Given the description of an element on the screen output the (x, y) to click on. 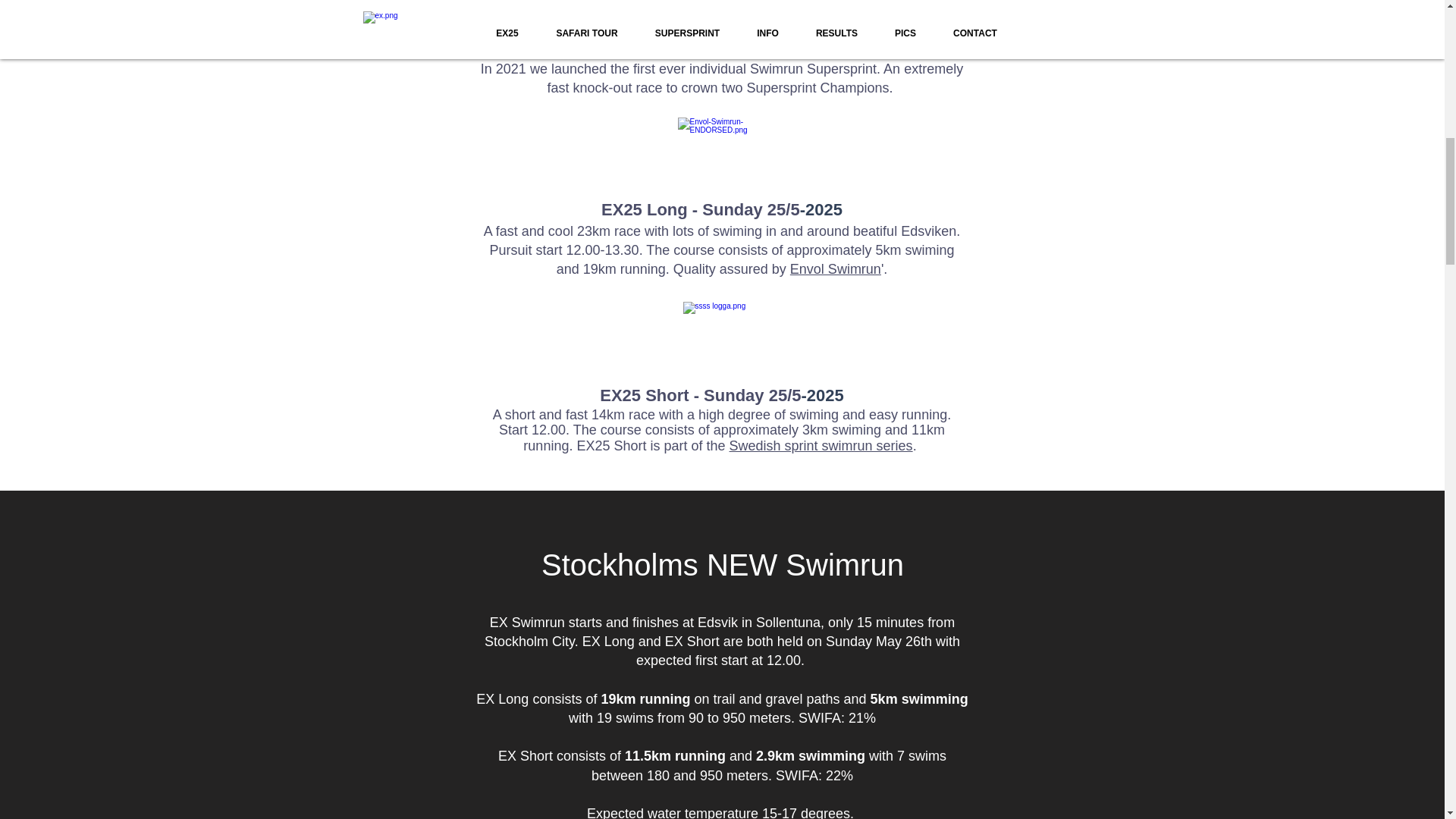
Envol Swimrun (835, 268)
Swedish sprint swimrun series (820, 445)
